Given the description of an element on the screen output the (x, y) to click on. 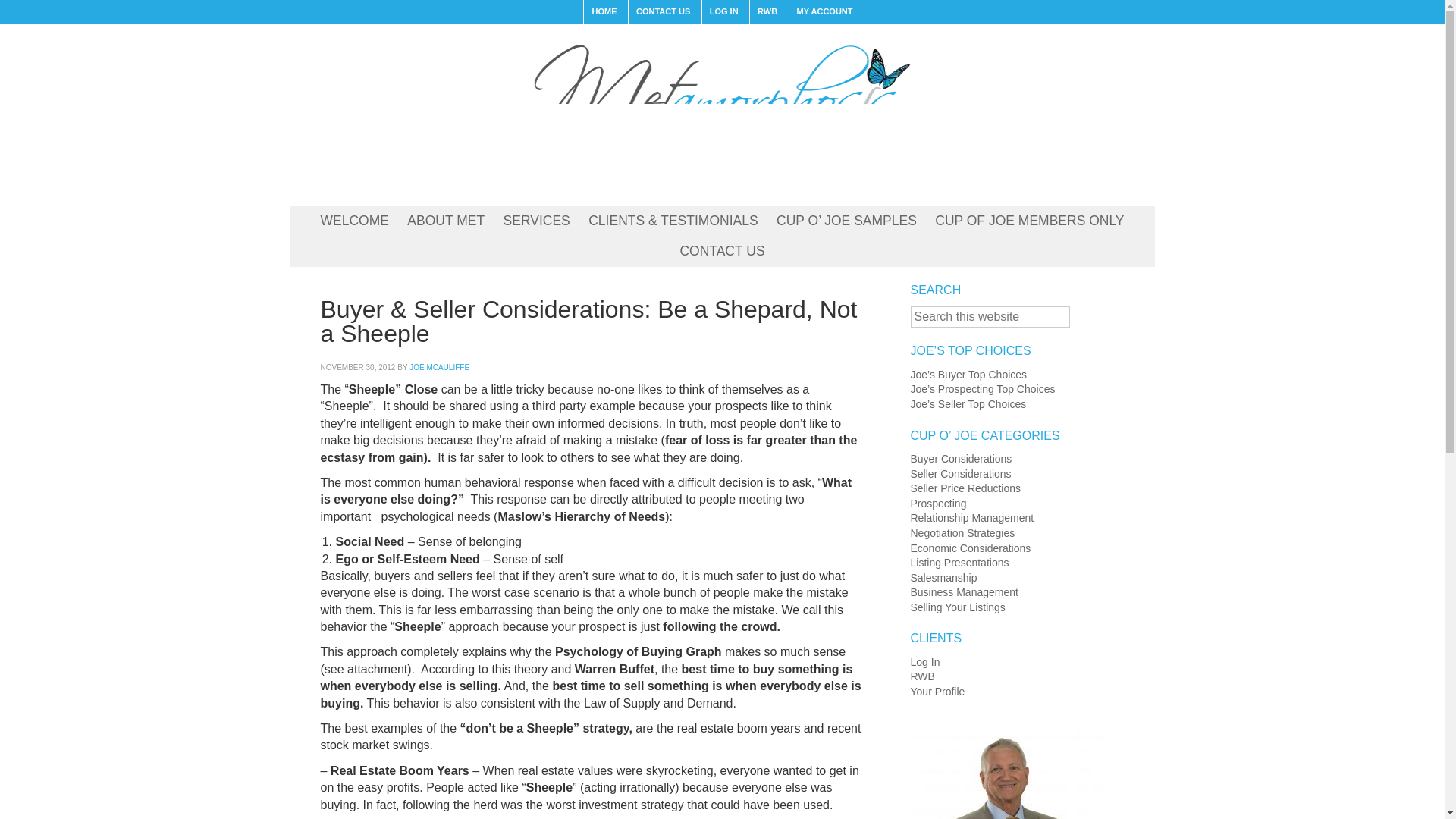
RWB (766, 11)
SERVICES (537, 220)
CONTACT US (662, 11)
METAMORPHOSIS CONSULTING, INC. (721, 111)
LOG IN (723, 11)
HOME (603, 11)
MY ACCOUNT (824, 11)
JOE MCAULIFFE (438, 367)
